Given the description of an element on the screen output the (x, y) to click on. 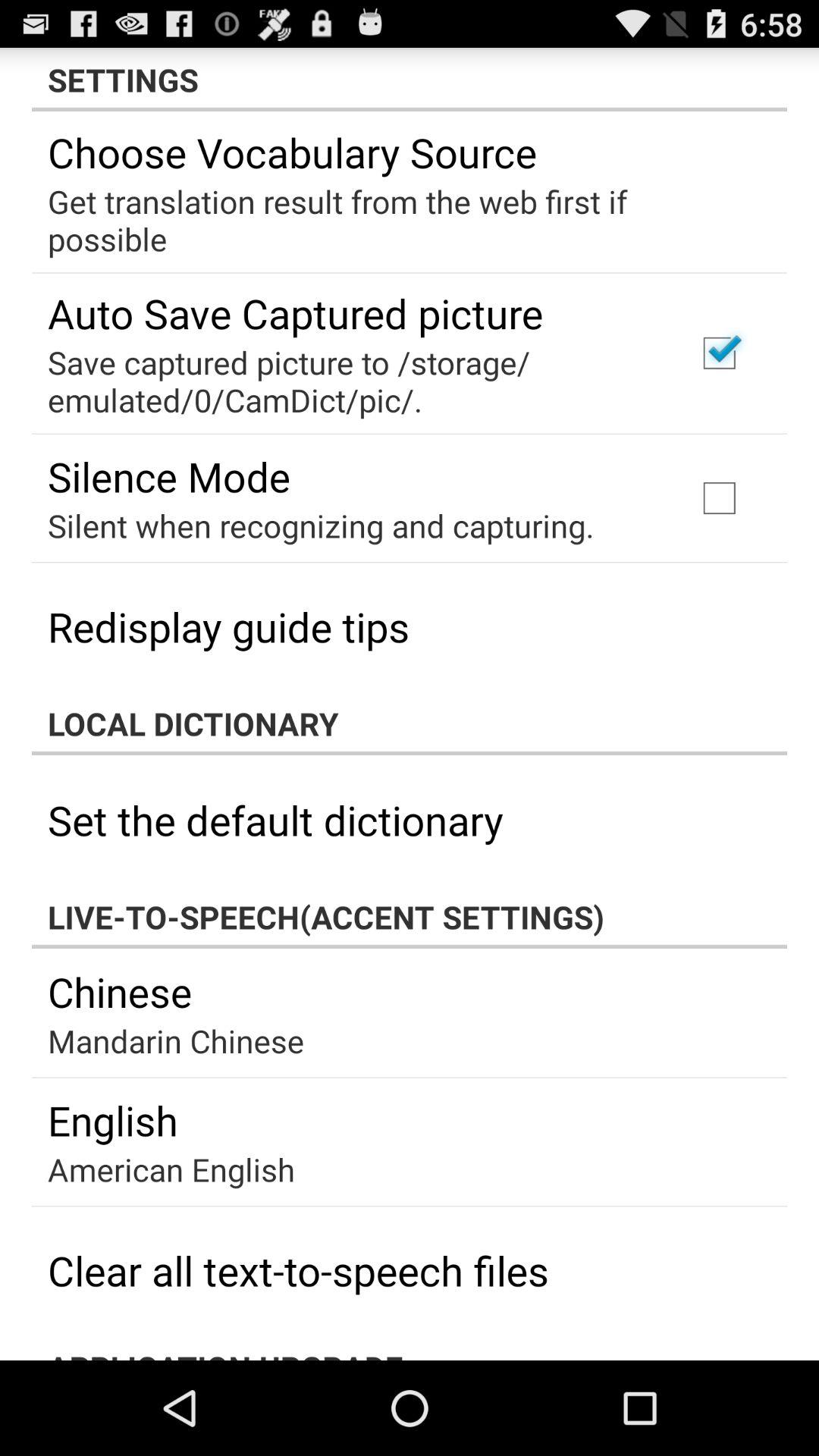
tap choose vocabulary source app (291, 151)
